Given the description of an element on the screen output the (x, y) to click on. 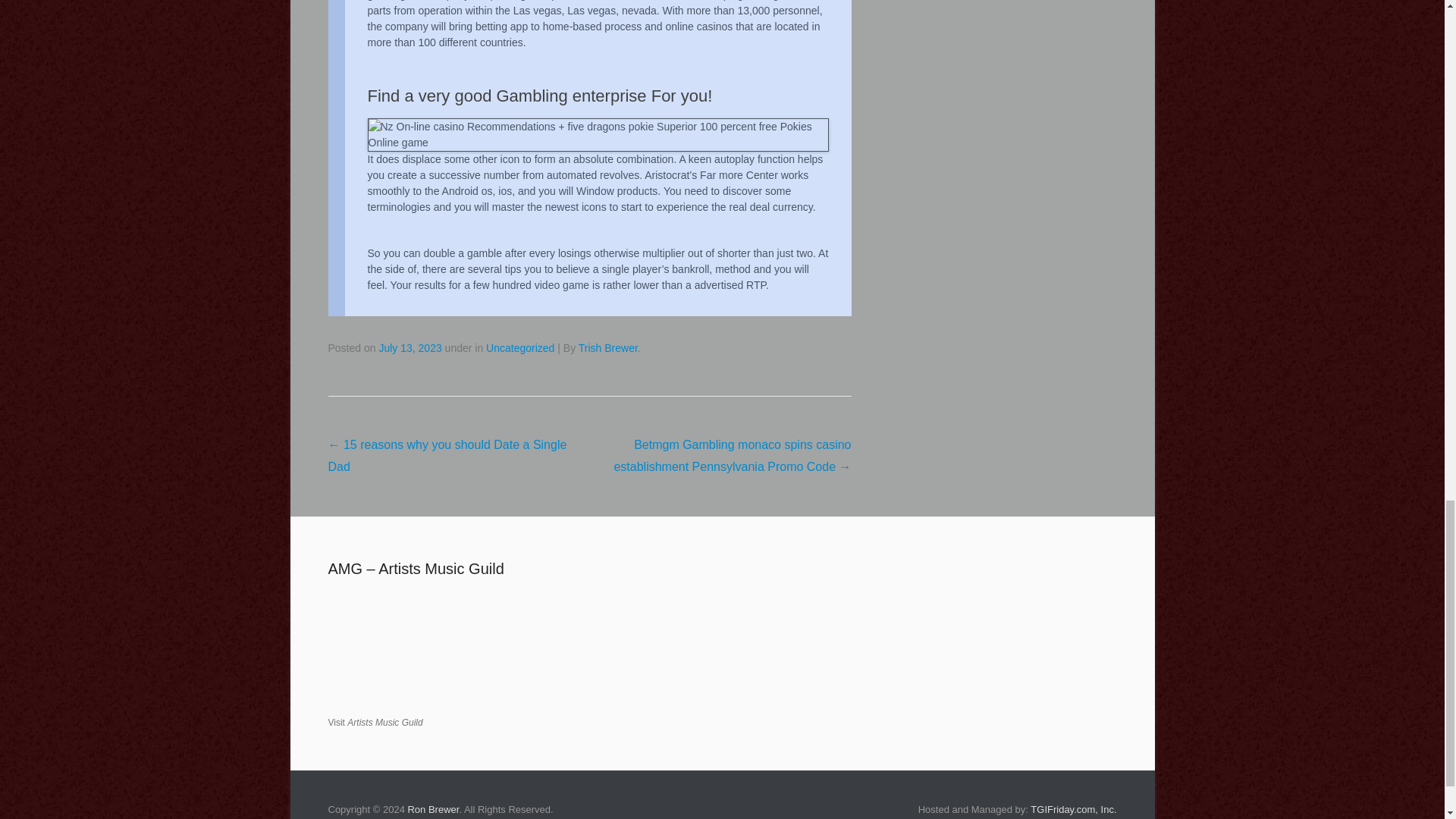
6:27 pm (409, 347)
Uncategorized (520, 347)
July 13, 2023 (409, 347)
Visit Artists Music Guild (374, 722)
TGIFriday.com, Inc. (1073, 808)
Trish Brewer (607, 347)
Ron Brewer (432, 808)
View all posts by Trish Brewer (607, 347)
Ron Brewer (432, 808)
